Given the description of an element on the screen output the (x, y) to click on. 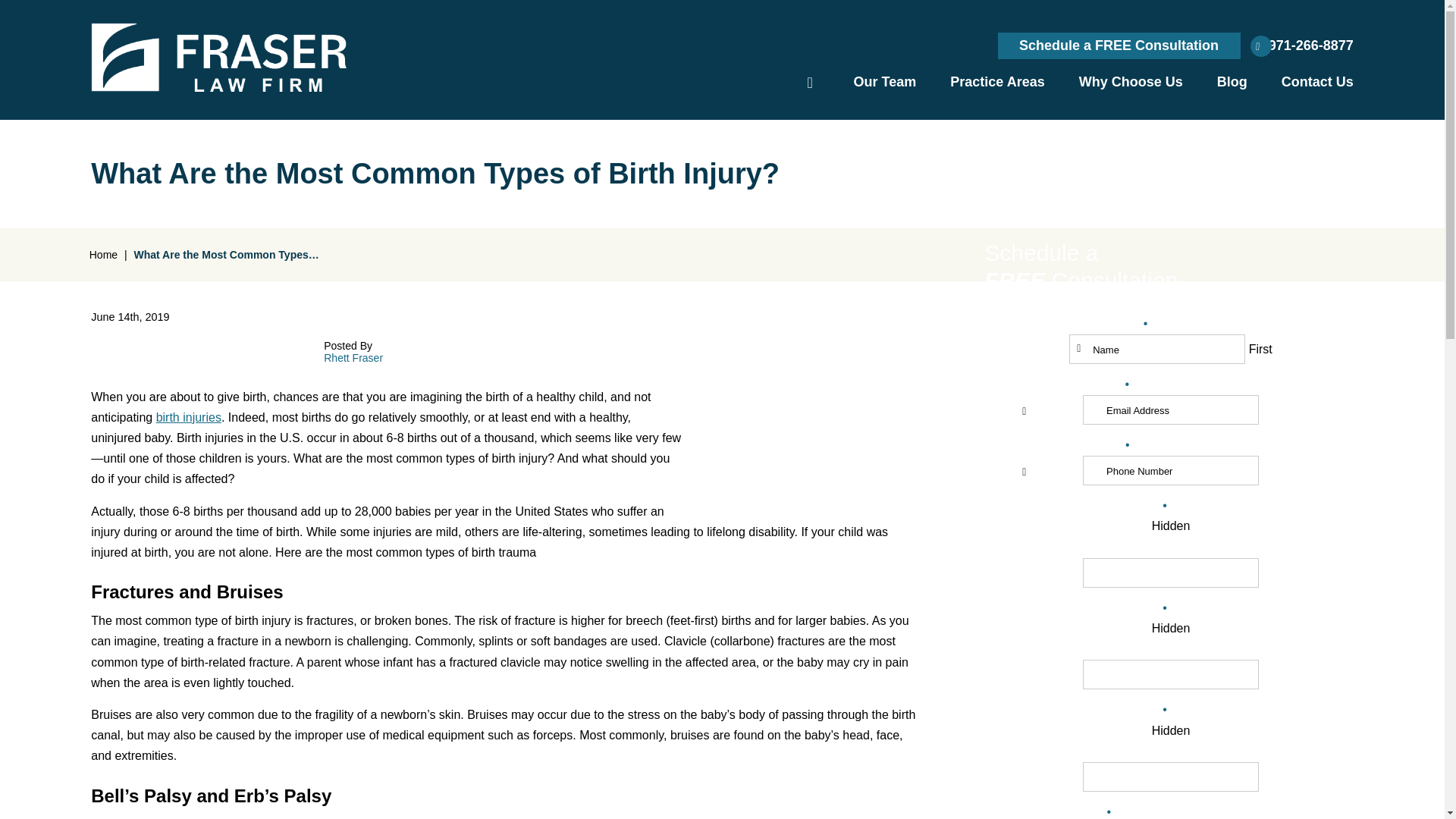
Practice Areas (996, 82)
Why Choose Us (1130, 82)
View Rhett Fraser's Profile (352, 358)
Blog (1232, 82)
971-266-8877 (1304, 45)
Home (809, 80)
Schedule a FREE Consultation (1118, 45)
Our Team (885, 82)
Contact Us (1317, 82)
